Given the description of an element on the screen output the (x, y) to click on. 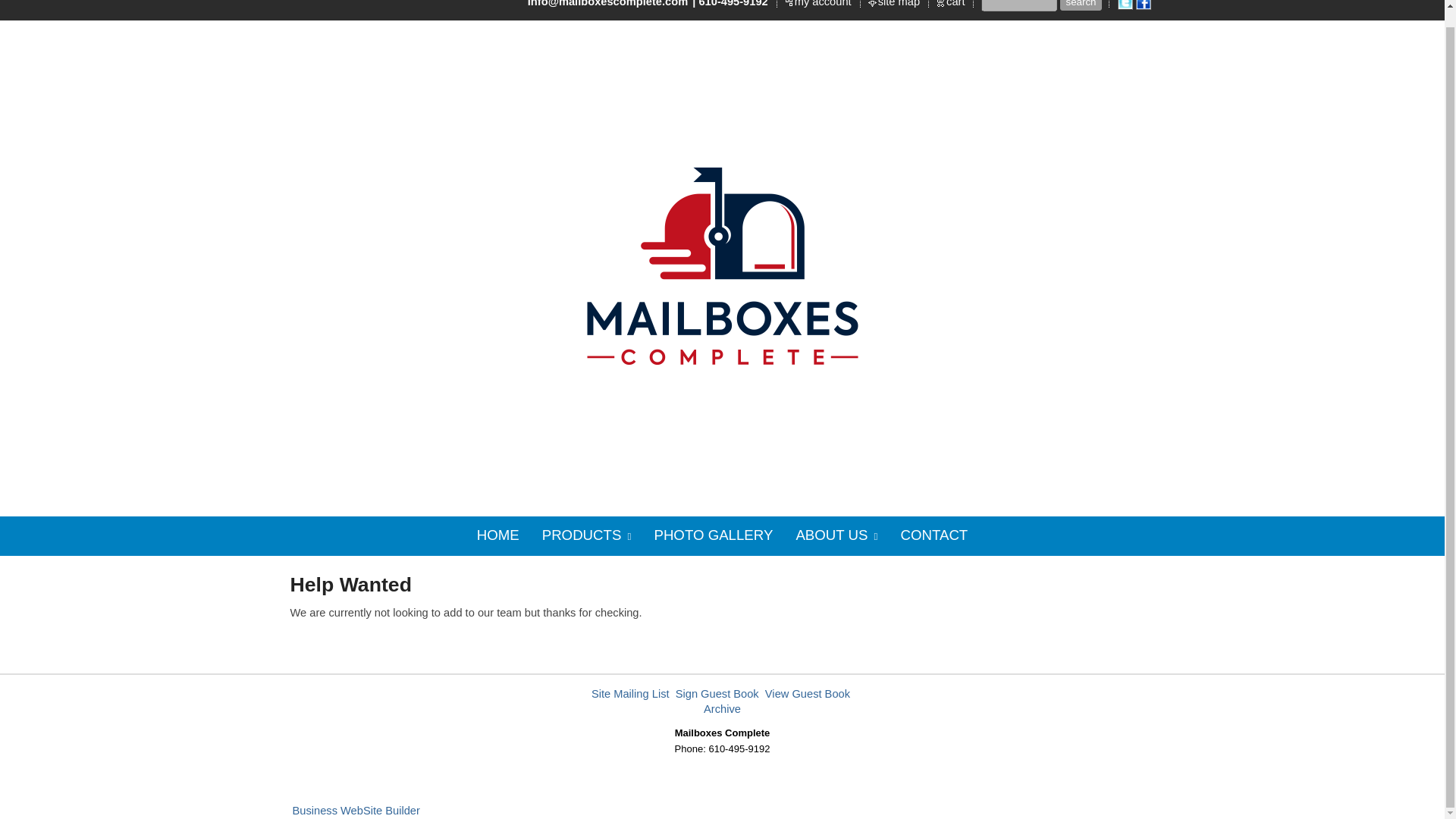
PHOTO GALLERY (713, 535)
View Guest Book (807, 693)
CONTACT (933, 535)
Sign Guest Book (716, 693)
HOME (498, 535)
ABOUT US (836, 536)
site map (899, 4)
Archive (722, 708)
Business WebSite Builder (356, 810)
610-495-9192 (733, 4)
cart (956, 4)
PRODUCTS (587, 536)
Site Mailing List (630, 693)
my account (823, 4)
search (1079, 5)
